Given the description of an element on the screen output the (x, y) to click on. 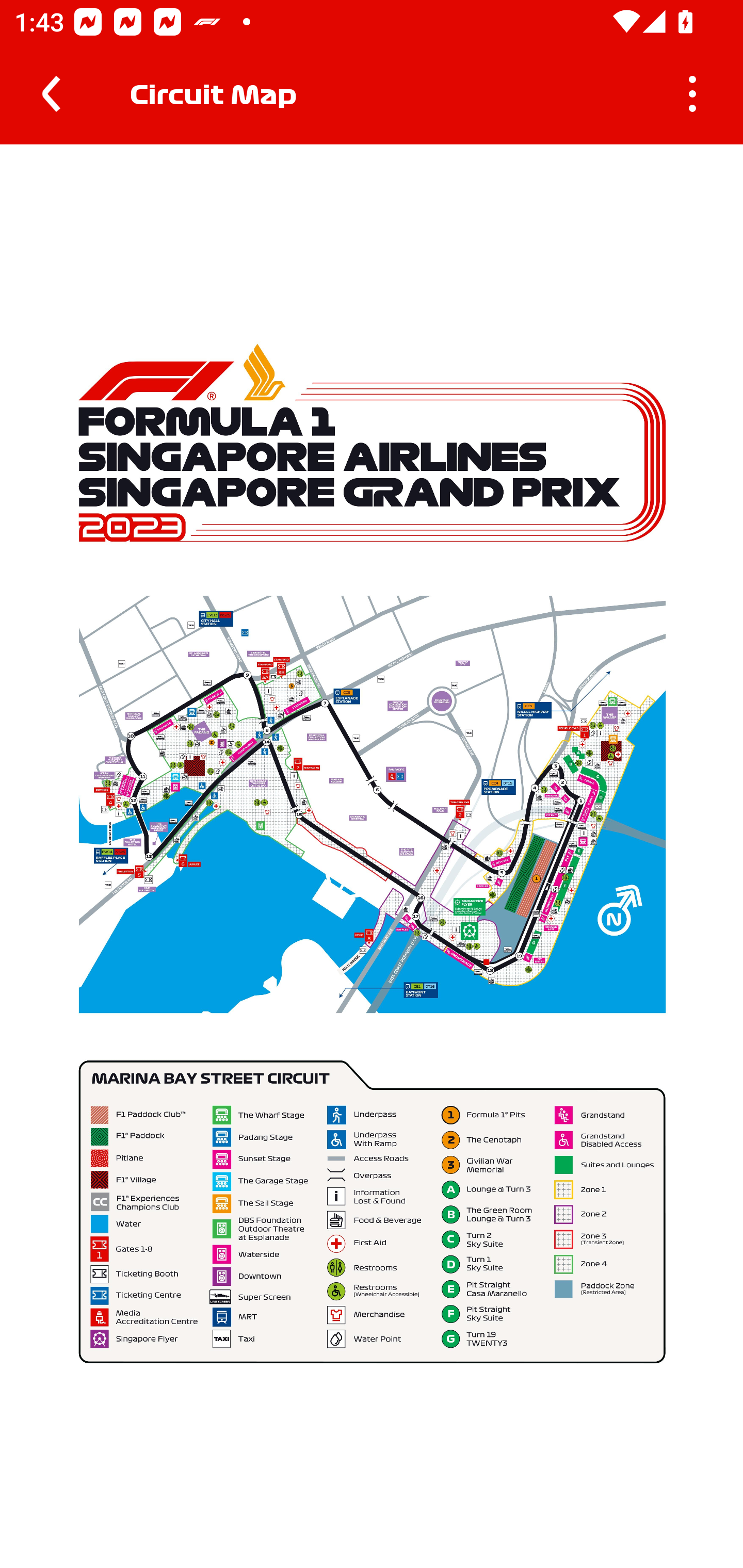
Navigate up (50, 93)
